Given the description of an element on the screen output the (x, y) to click on. 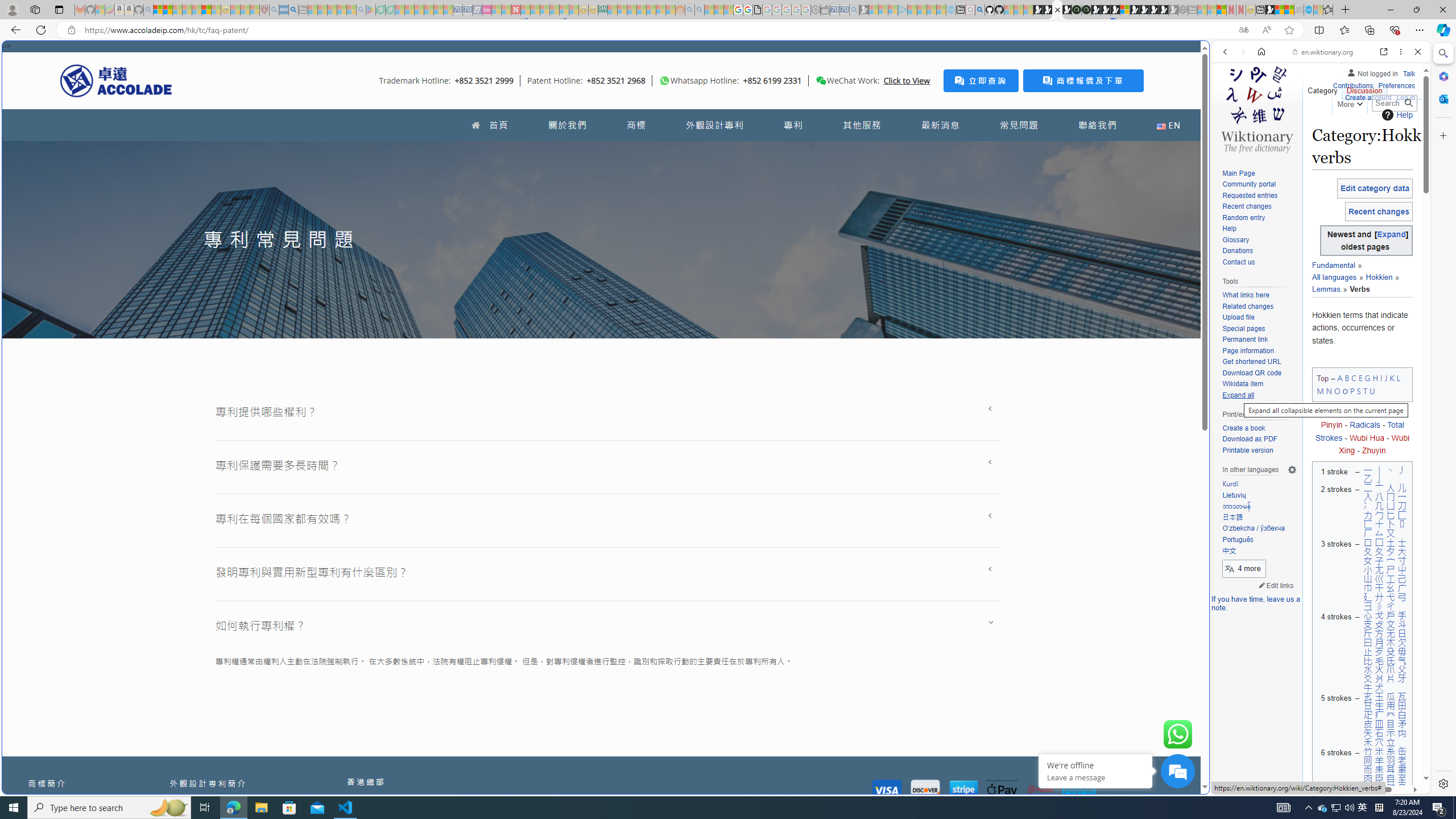
Edit links (1276, 585)
Talk (1408, 73)
[Expand] (1391, 233)
